Given the description of an element on the screen output the (x, y) to click on. 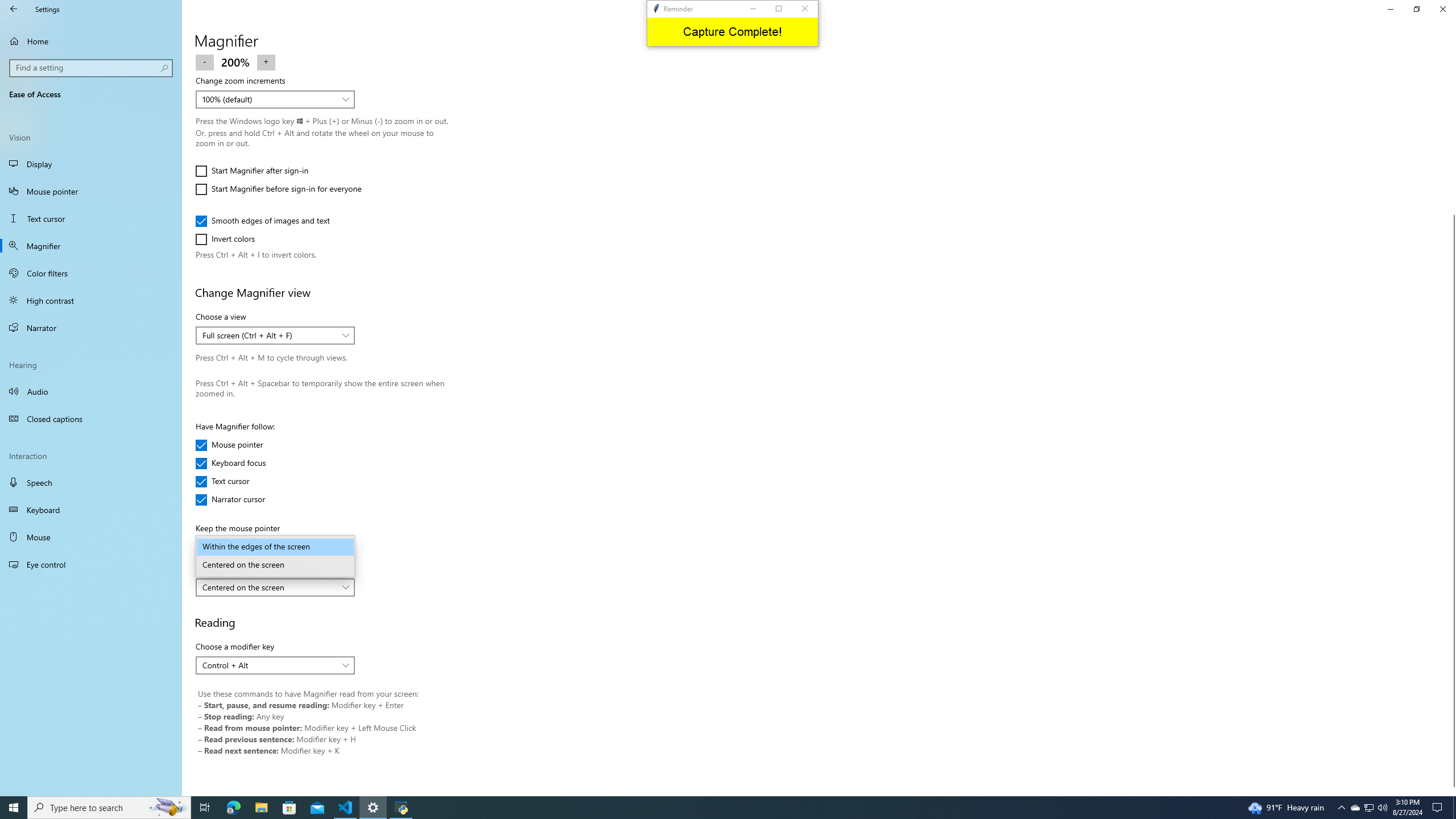
Start (13, 807)
Centered on the screen (269, 586)
File Explorer (261, 807)
Make everything on my computer bigger (267, 13)
Control + Alt (269, 665)
